Given the description of an element on the screen output the (x, y) to click on. 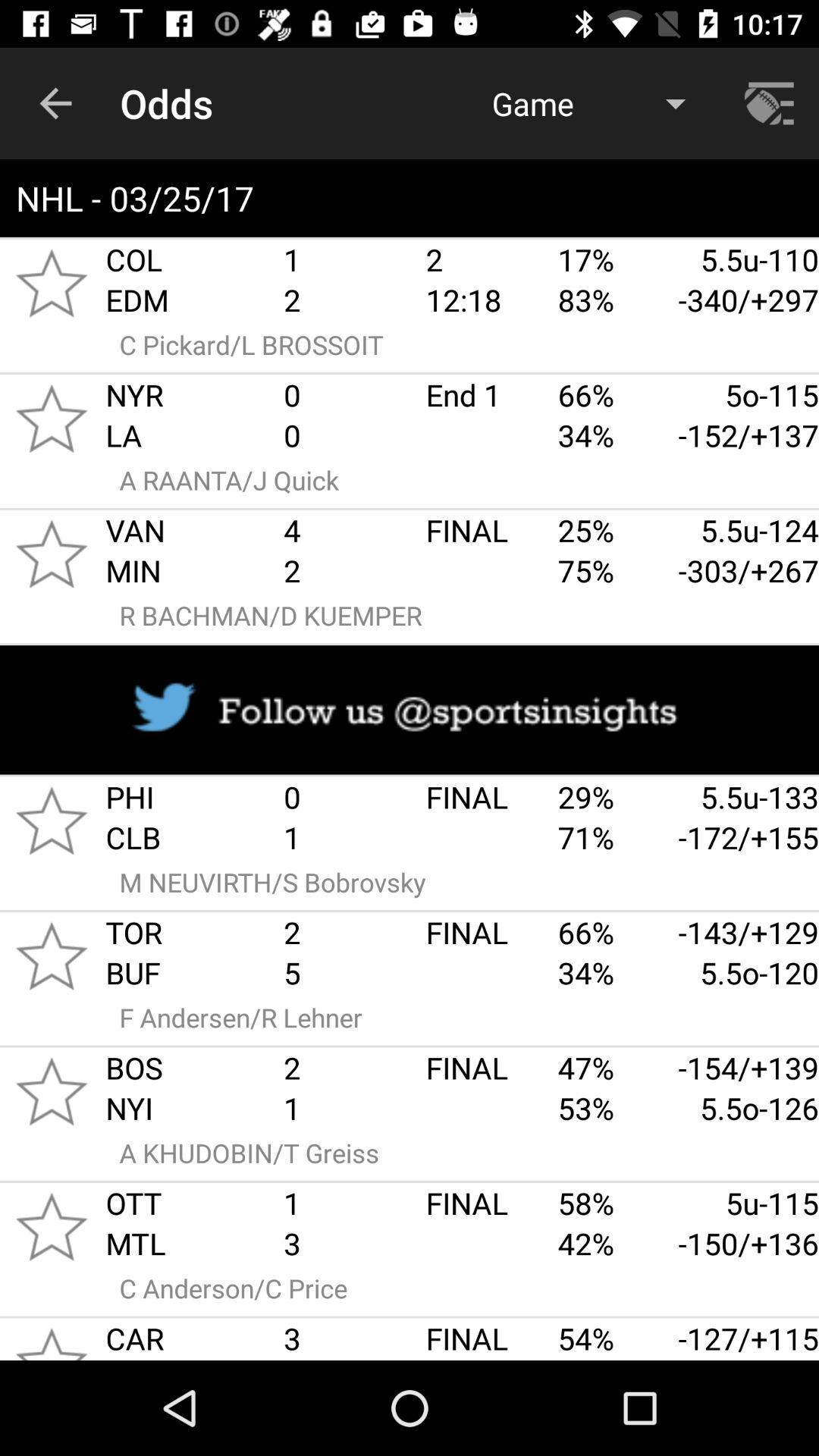
select as favorite (51, 553)
